Given the description of an element on the screen output the (x, y) to click on. 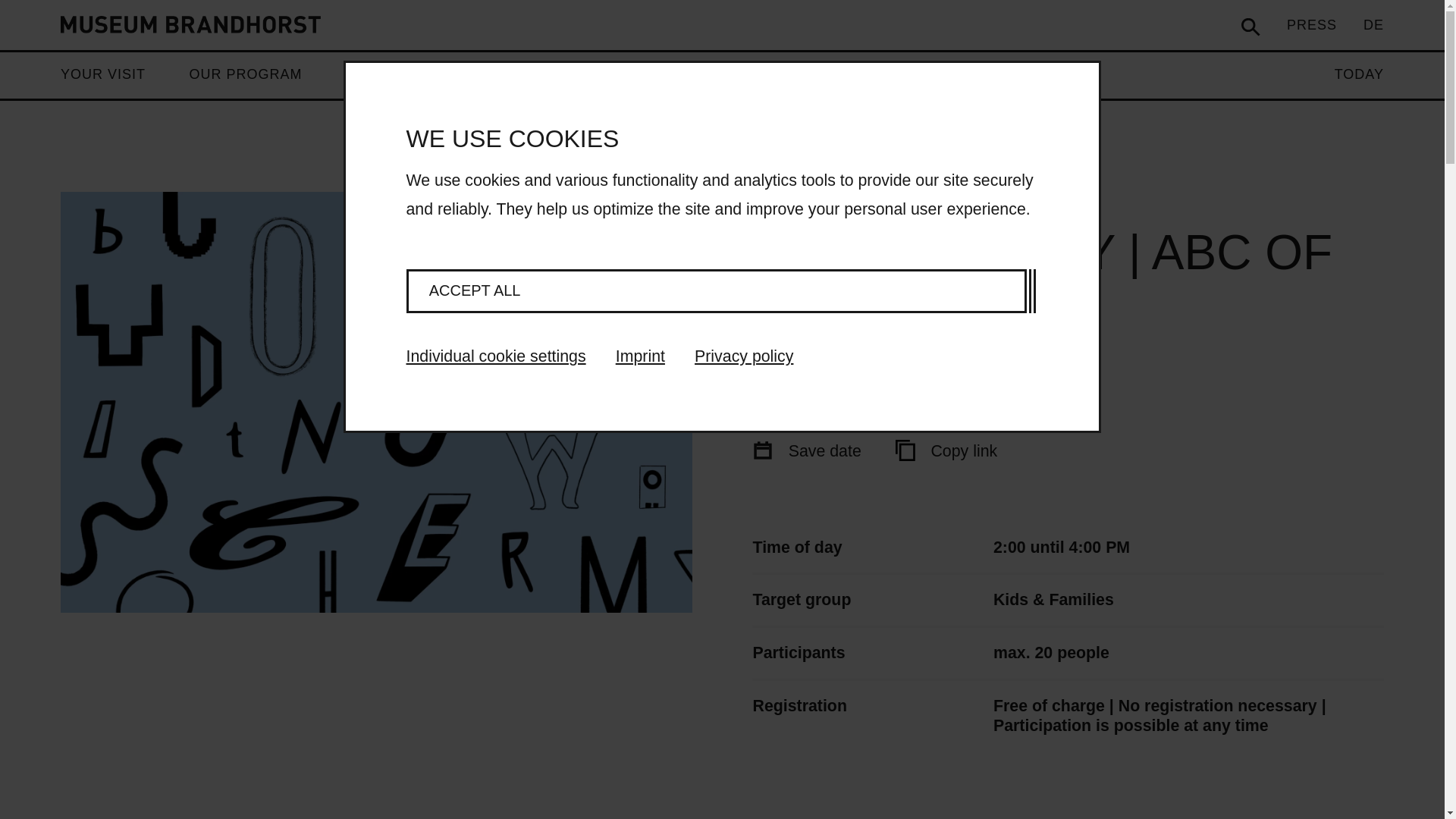
DE (1373, 24)
Zum Pressebereich (1311, 24)
Sprache wechseln zu Deutsch (1373, 24)
OUR PROGRAM (245, 74)
DISCOVER (384, 74)
Ich bin mit der Verwendung von Cookies einverstanden (716, 290)
THE MUSEUM (515, 74)
Go to home page (190, 24)
FACTORY (644, 74)
